Given the description of an element on the screen output the (x, y) to click on. 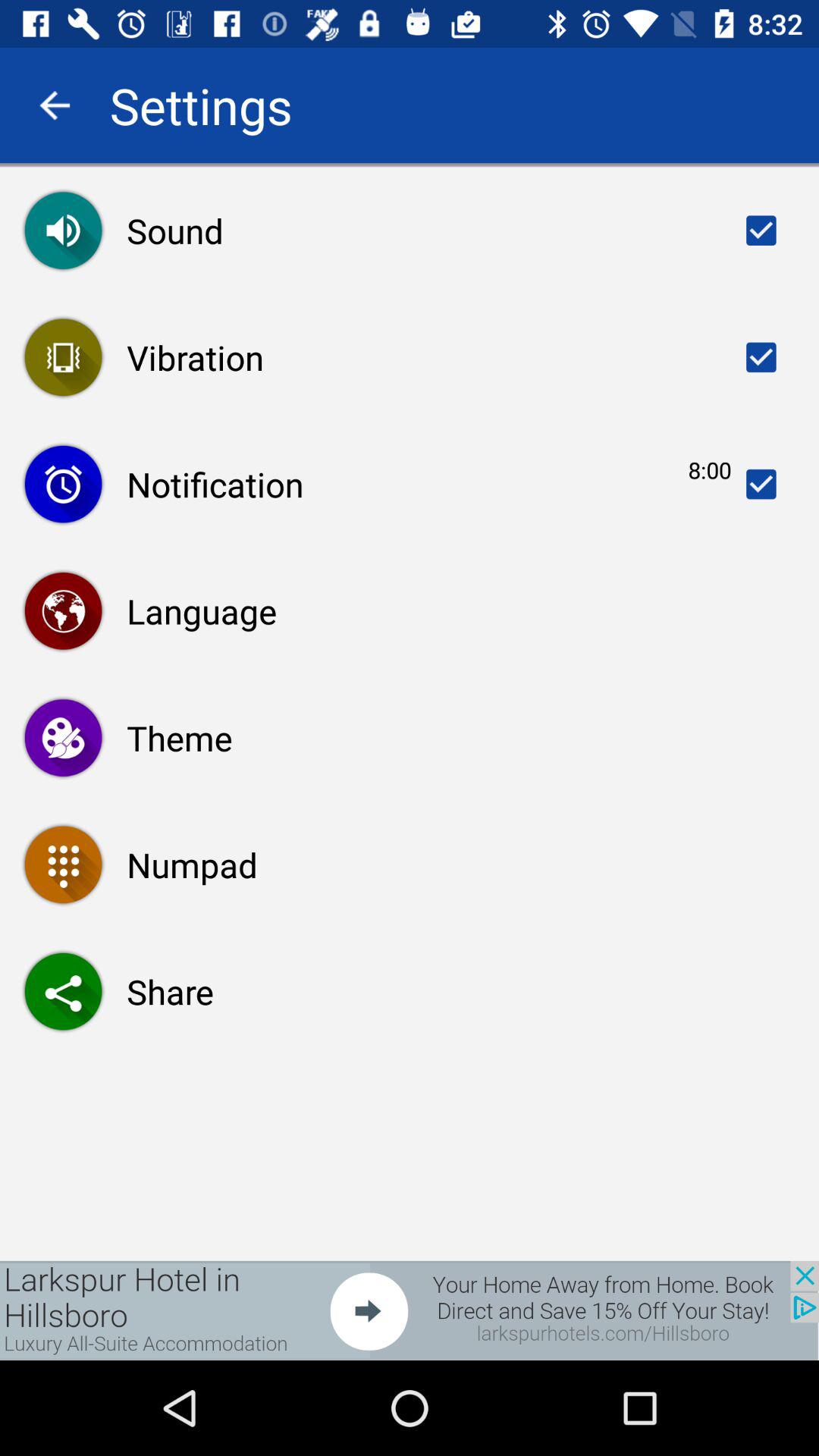
turn off notifications (761, 484)
